Given the description of an element on the screen output the (x, y) to click on. 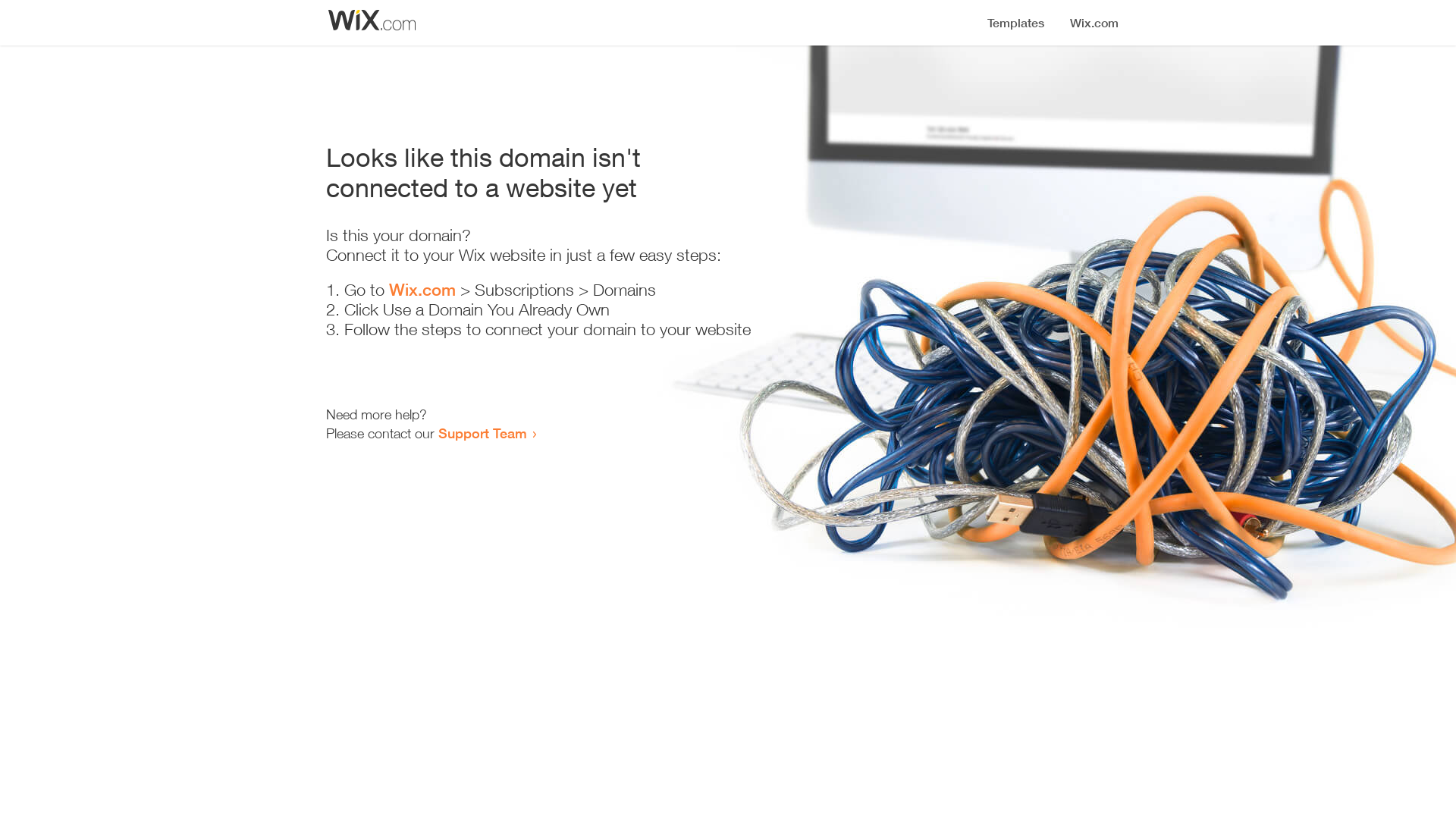
Wix.com Element type: text (422, 289)
Support Team Element type: text (482, 432)
